Given the description of an element on the screen output the (x, y) to click on. 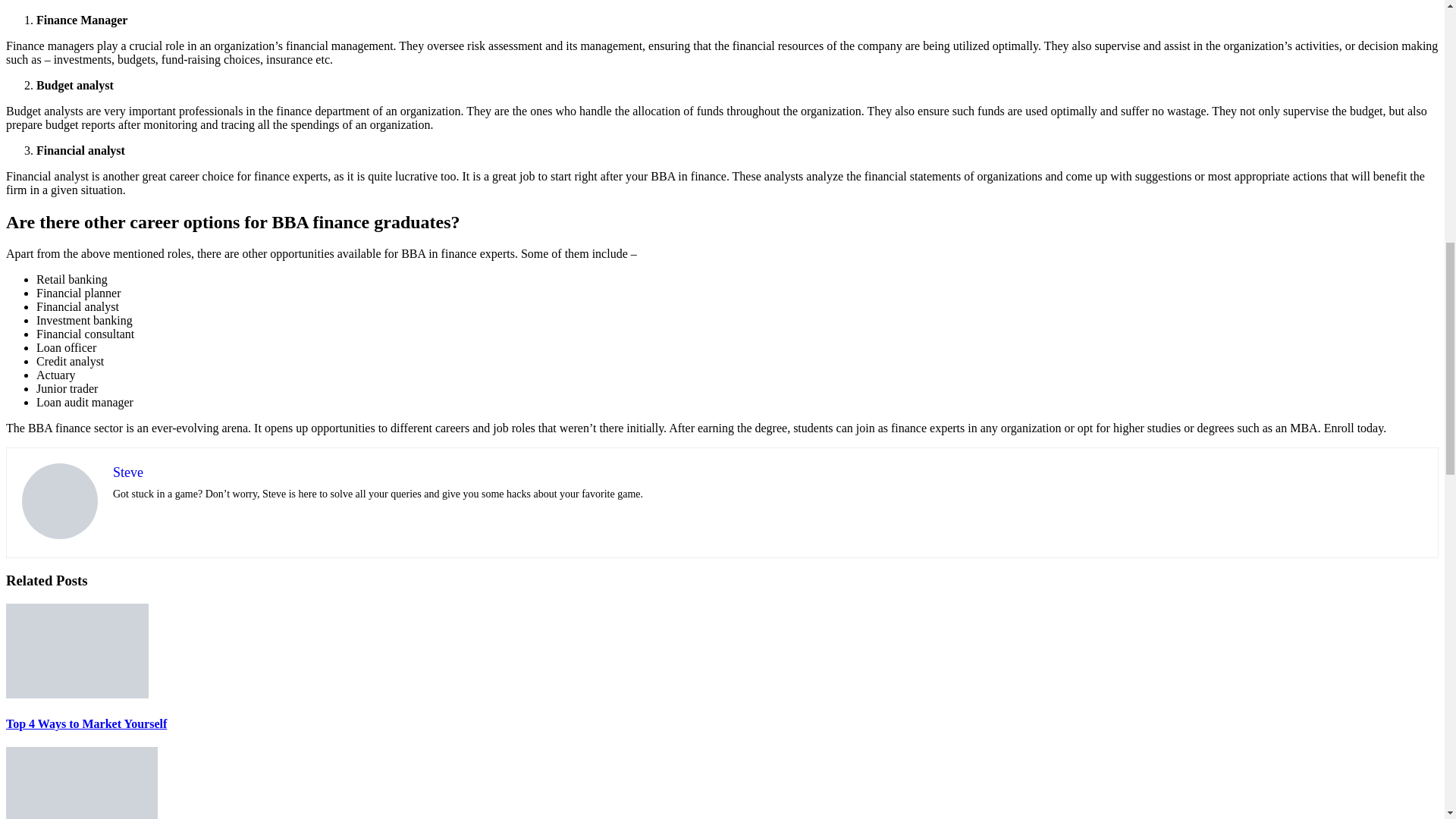
Top 5 Ways to Cope with Online Education Challenges 4 (81, 782)
Steve (127, 472)
How to advance your career through BBA finance 1 (59, 500)
